Given the description of an element on the screen output the (x, y) to click on. 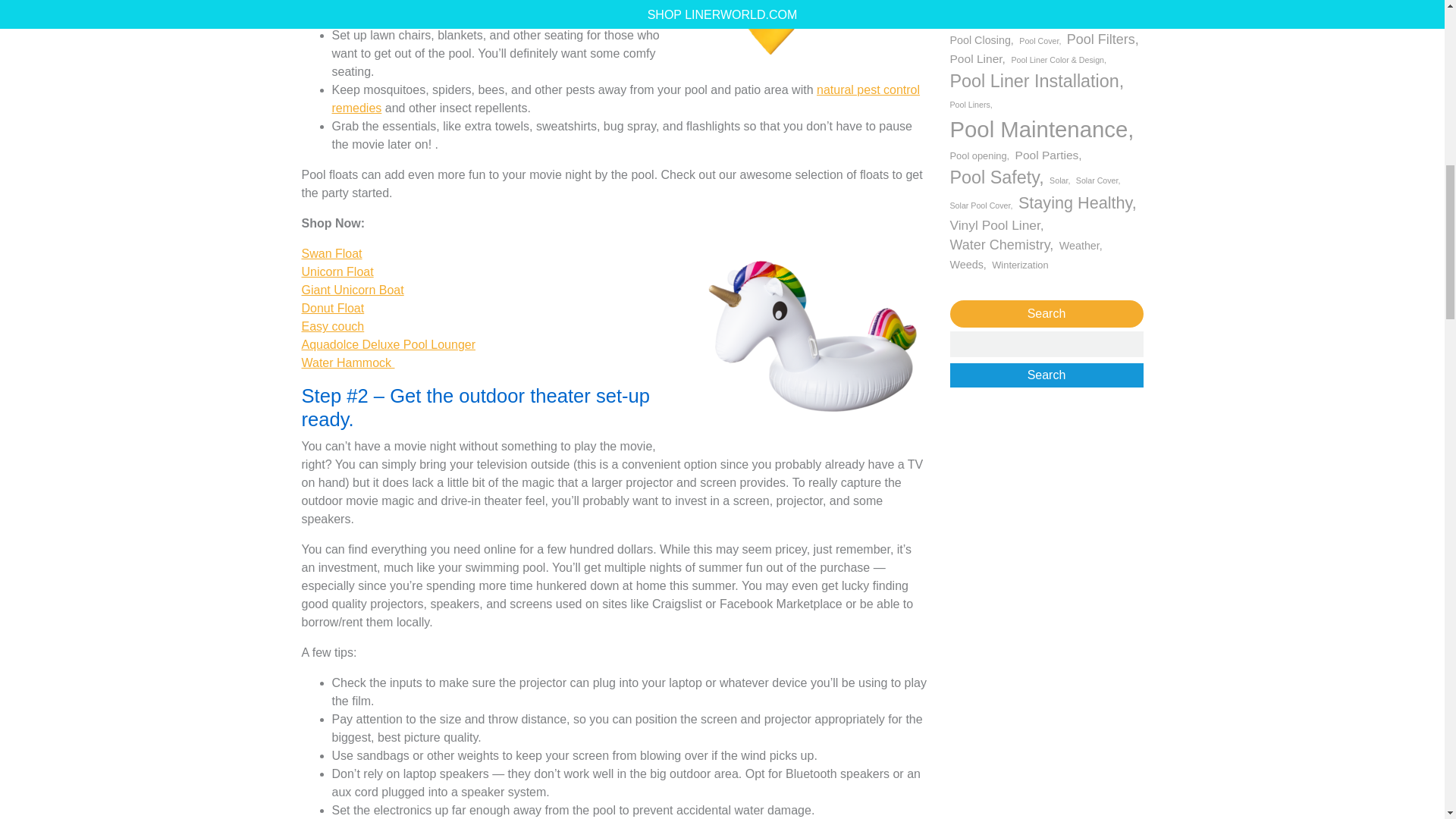
Swan Float (331, 253)
Unicorn Float (337, 271)
Water Hammock  (347, 362)
Donut Float (333, 308)
Giant Unicorn Boat (352, 289)
Search (1045, 375)
Easy couch (333, 326)
Aquadolce Deluxe Pool Lounger (388, 344)
natural pest control remedies (625, 98)
